Given the description of an element on the screen output the (x, y) to click on. 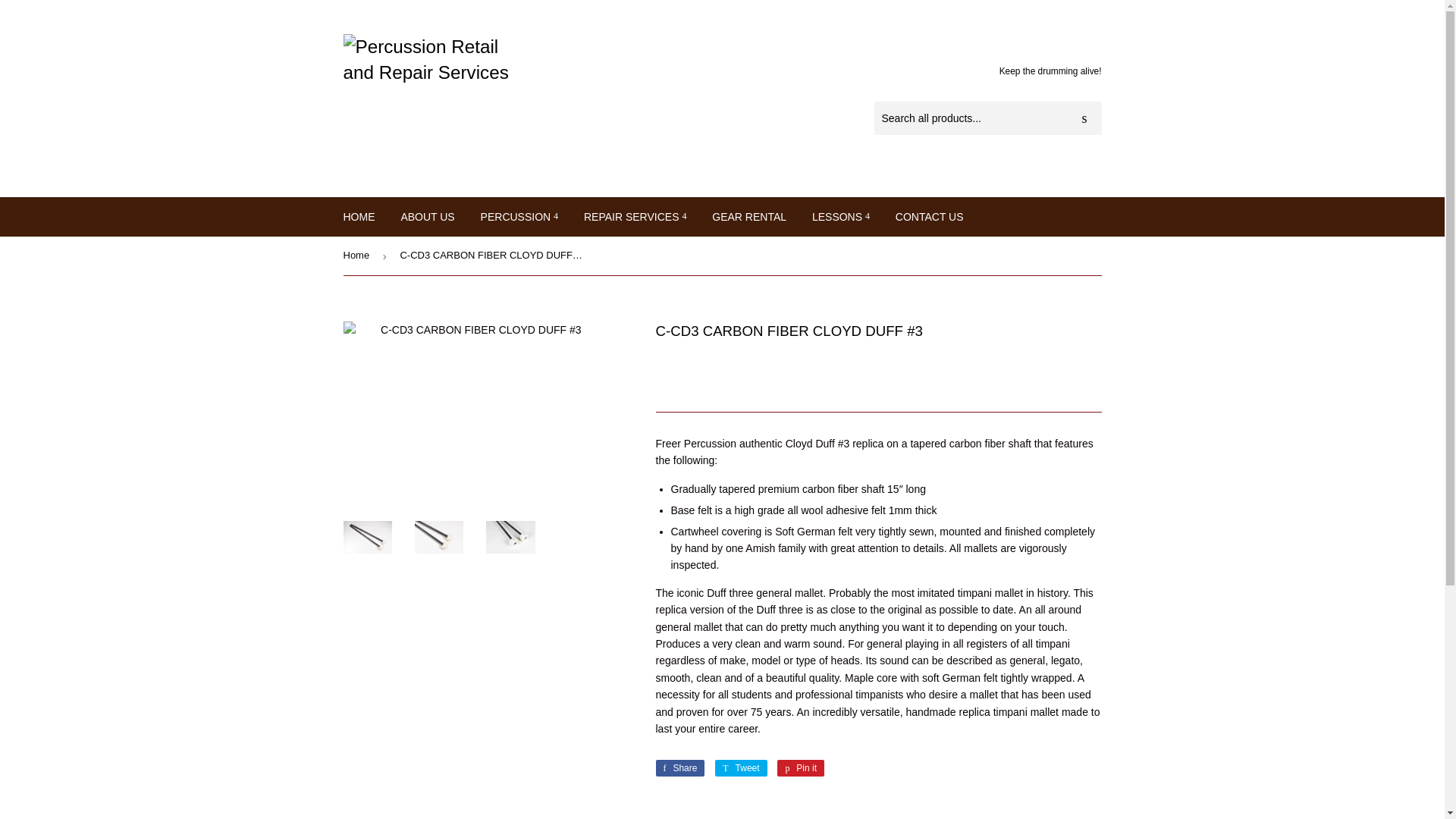
Search (1084, 119)
Pin on Pinterest (800, 768)
Tweet on Twitter (740, 768)
Share on Facebook (679, 768)
